Given the description of an element on the screen output the (x, y) to click on. 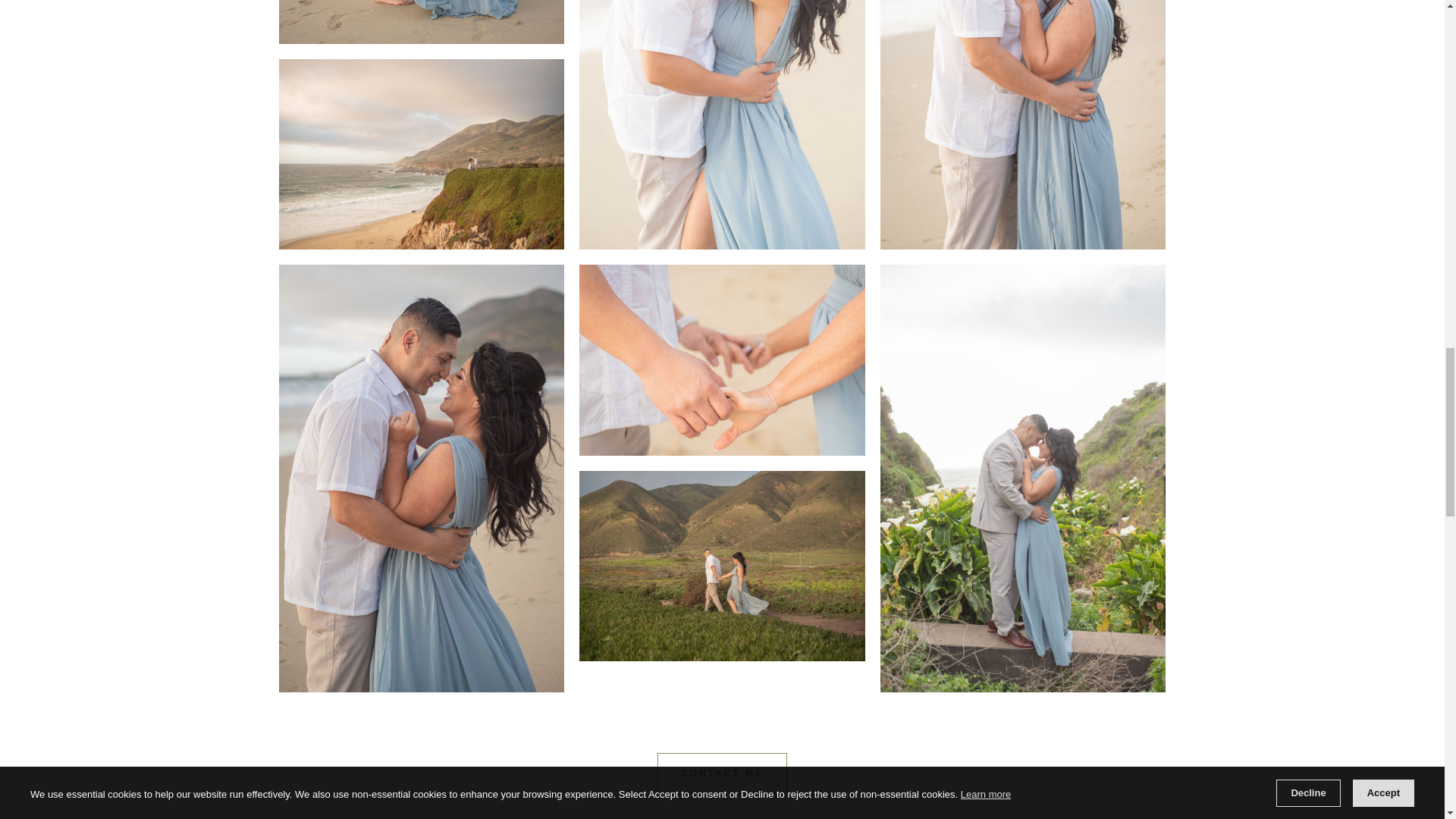
CONTACT ME (722, 772)
